Given the description of an element on the screen output the (x, y) to click on. 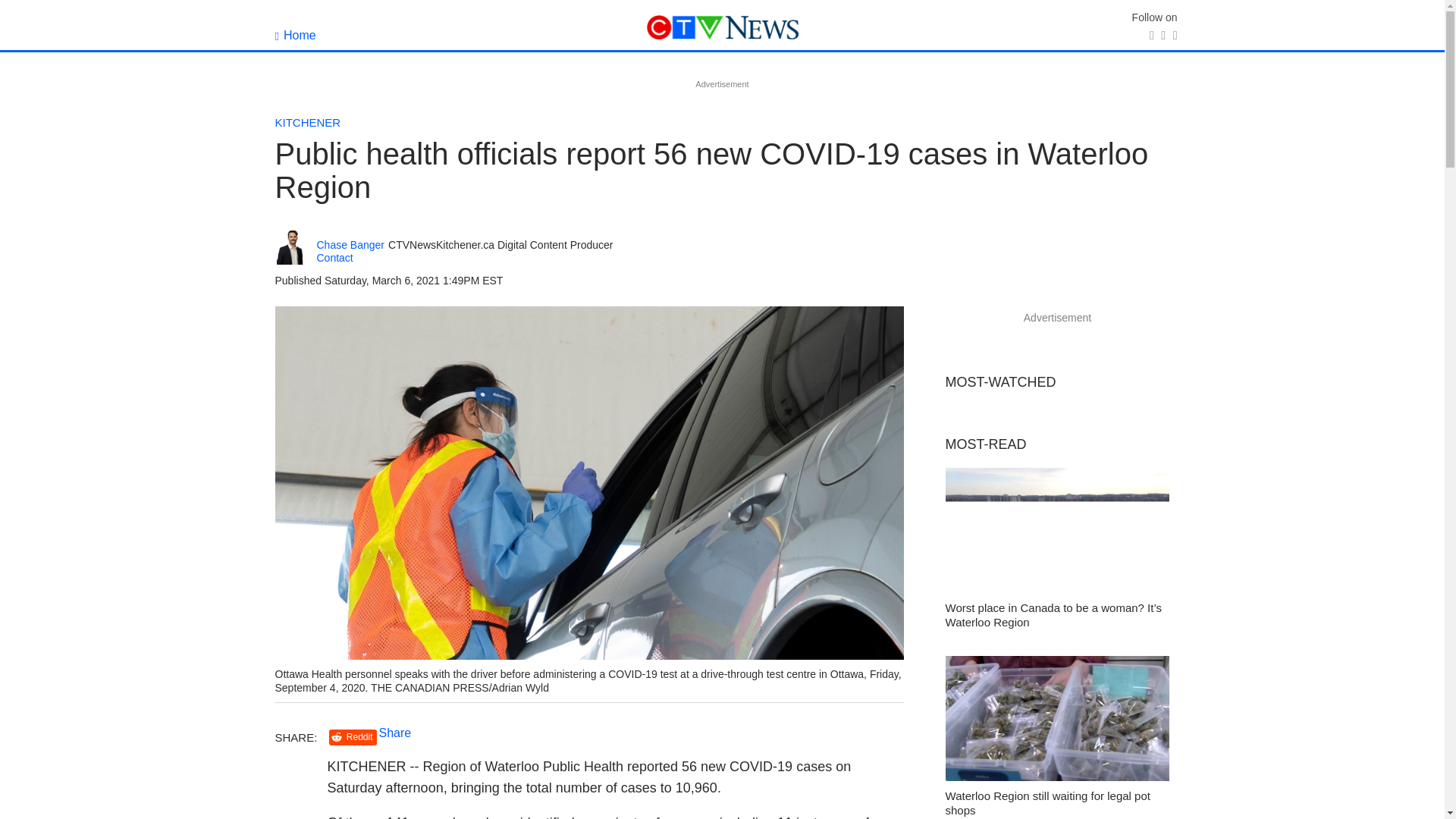
Share (395, 732)
Reddit (353, 737)
Home (295, 34)
KITCHENER (307, 122)
Chase Banger (351, 245)
Contact (335, 257)
